Given the description of an element on the screen output the (x, y) to click on. 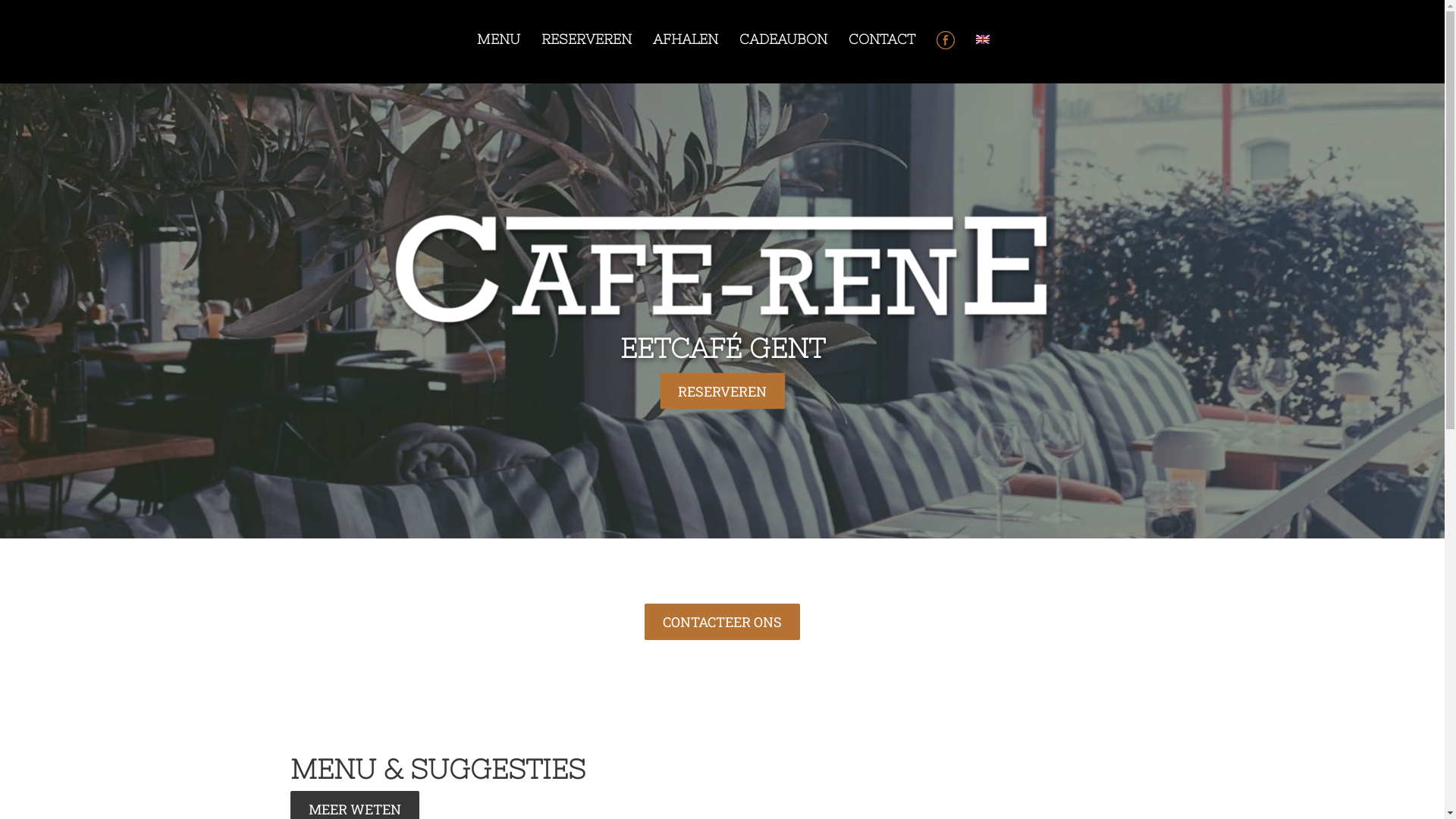
CONTACT Element type: text (880, 39)
RESERVEREN Element type: text (586, 39)
English Element type: hover (981, 39)
RESERVEREN Element type: text (721, 391)
AFHALEN Element type: text (684, 39)
CONTACTEER ONS Element type: text (722, 621)
MENU Element type: text (497, 39)
CADEAUBON Element type: text (782, 39)
